Given the description of an element on the screen output the (x, y) to click on. 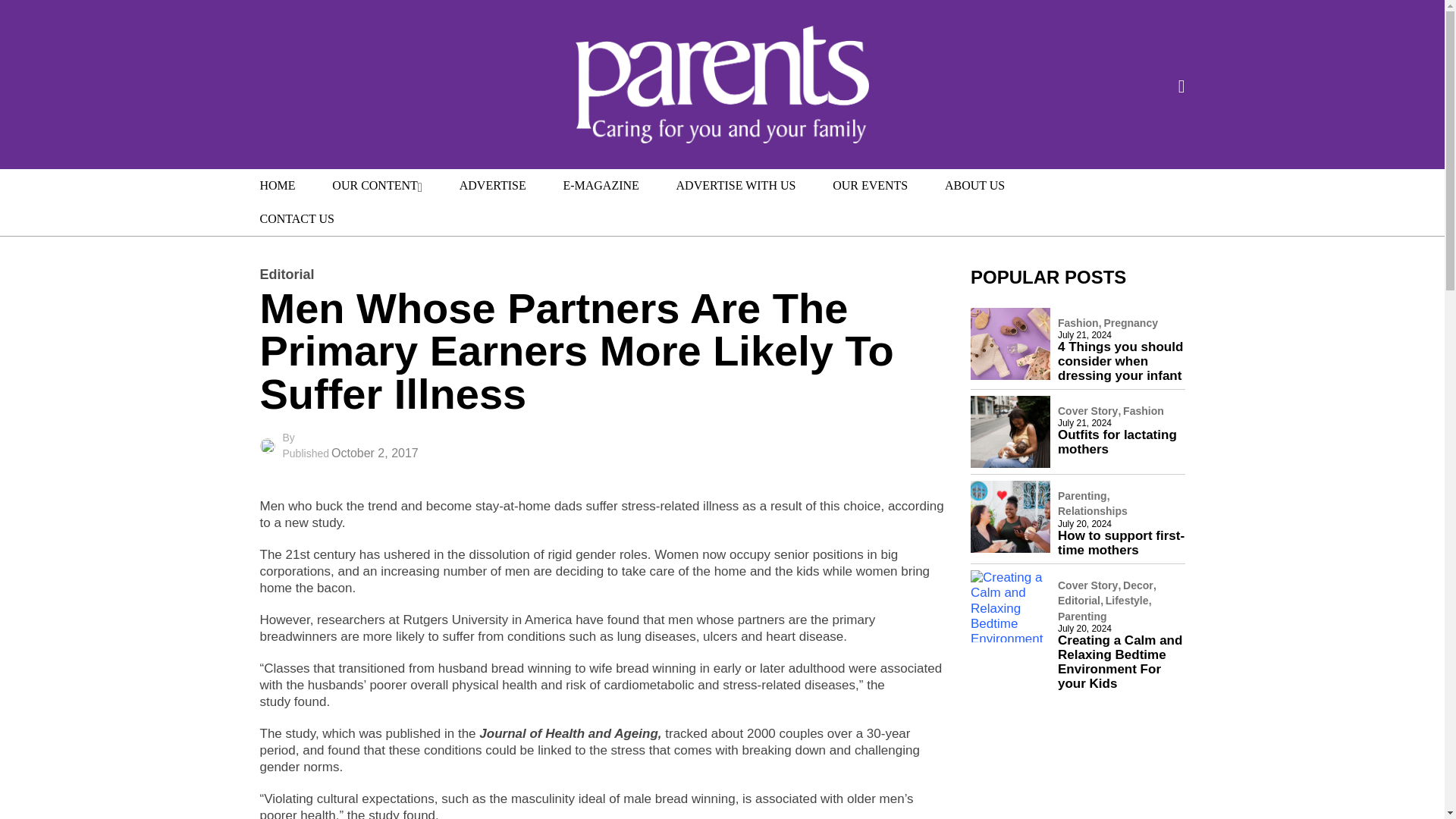
OUR CONTENT (377, 185)
ADVERTISE (492, 185)
HOME (277, 185)
